Given the description of an element on the screen output the (x, y) to click on. 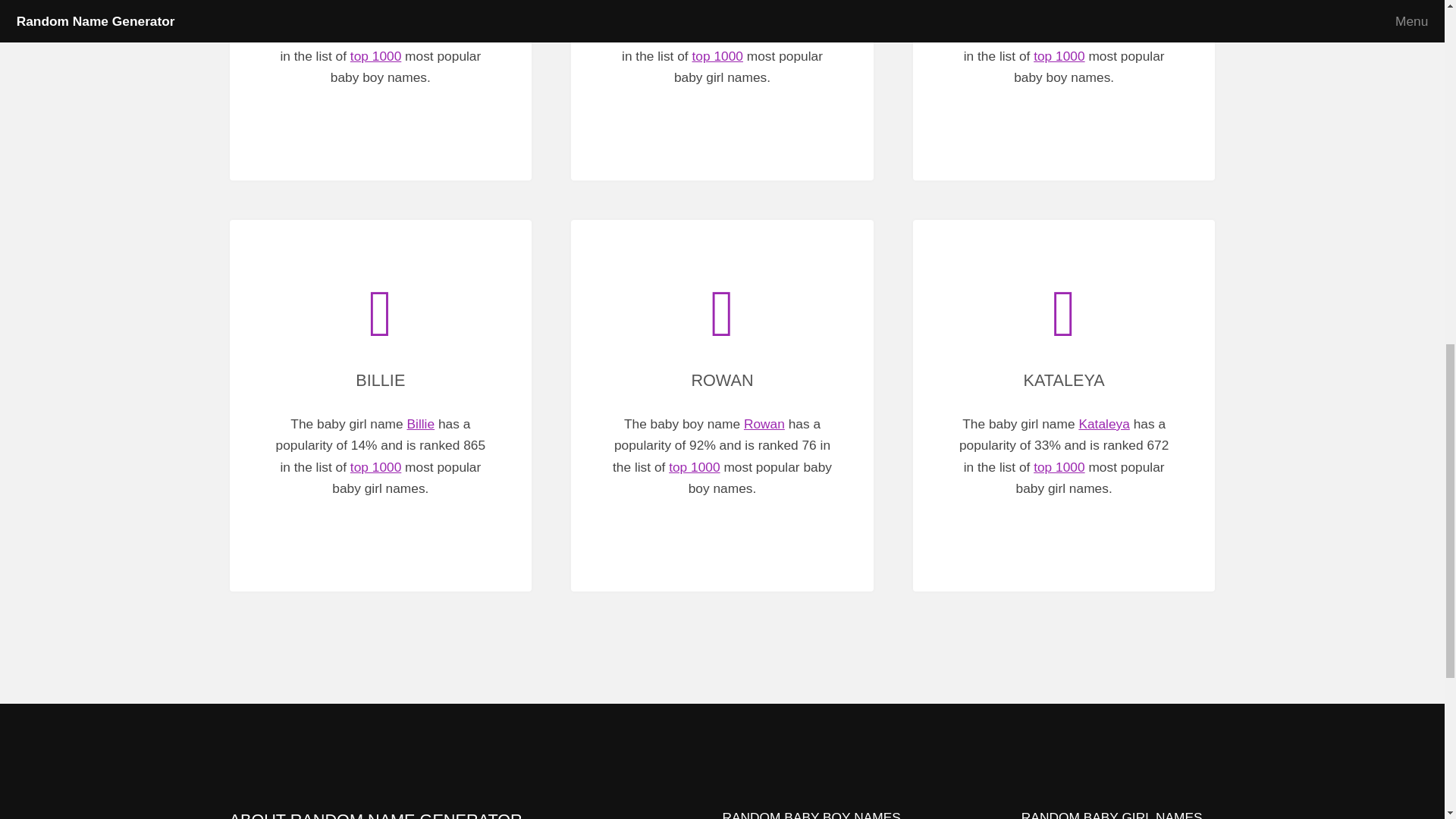
Billie (419, 423)
top 1000 (1058, 55)
top 1000 (375, 467)
Kataleya (1103, 423)
top 1000 (693, 467)
Rowan (764, 423)
top 1000 (375, 55)
top 1000 (1058, 467)
Jaylani (762, 11)
Zayn (422, 11)
top 1000 (716, 55)
Albert (1104, 11)
